Given the description of an element on the screen output the (x, y) to click on. 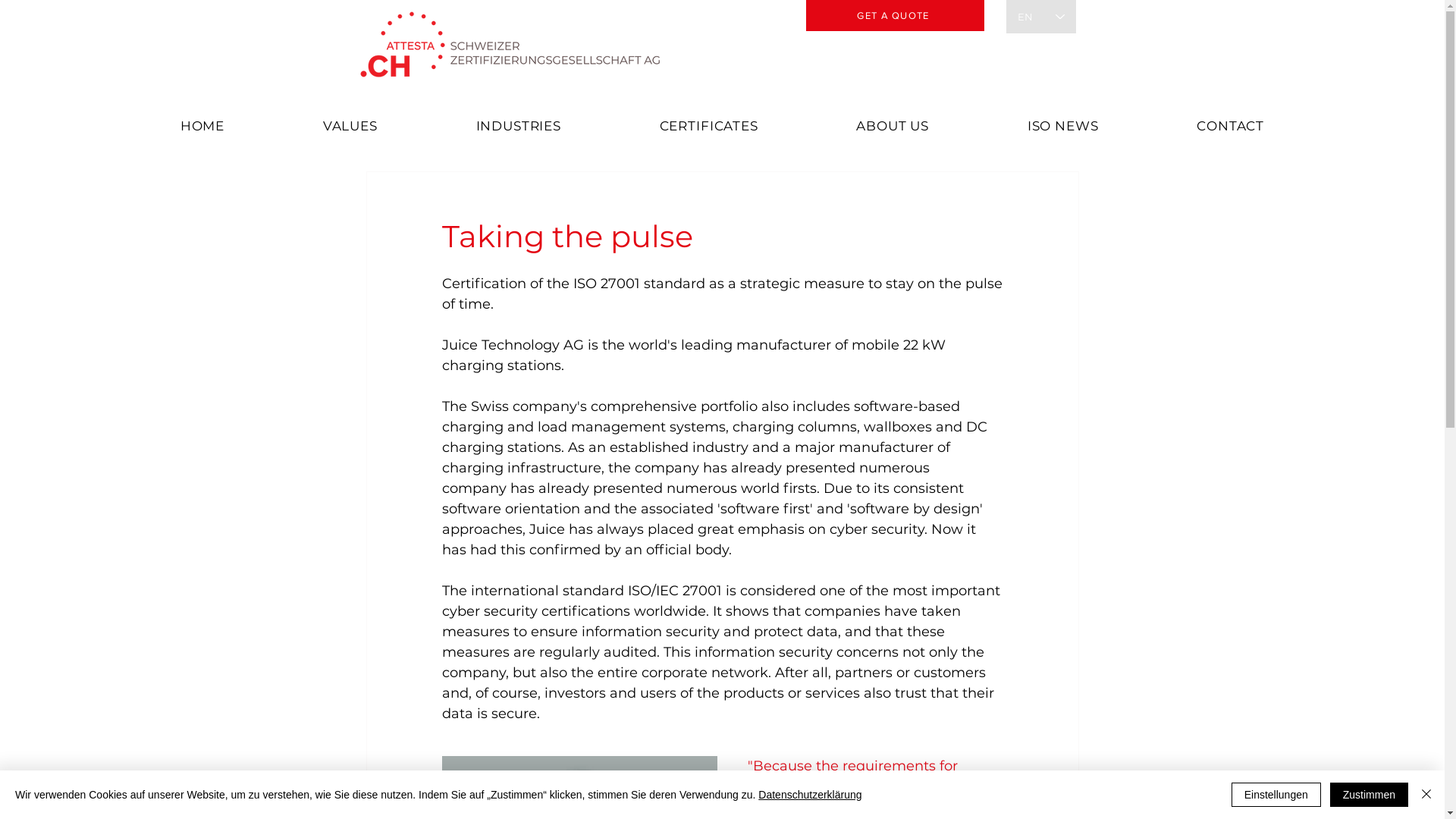
Einstellungen Element type: text (1276, 794)
ISO NEWS Element type: text (1062, 125)
HOME Element type: text (202, 125)
CONTACT Element type: text (1230, 125)
VALUES Element type: text (350, 125)
ABOUT US Element type: text (892, 125)
REQUEST OFFER Element type: text (894, 15)
Zustimmen Element type: text (1369, 794)
